Given the description of an element on the screen output the (x, y) to click on. 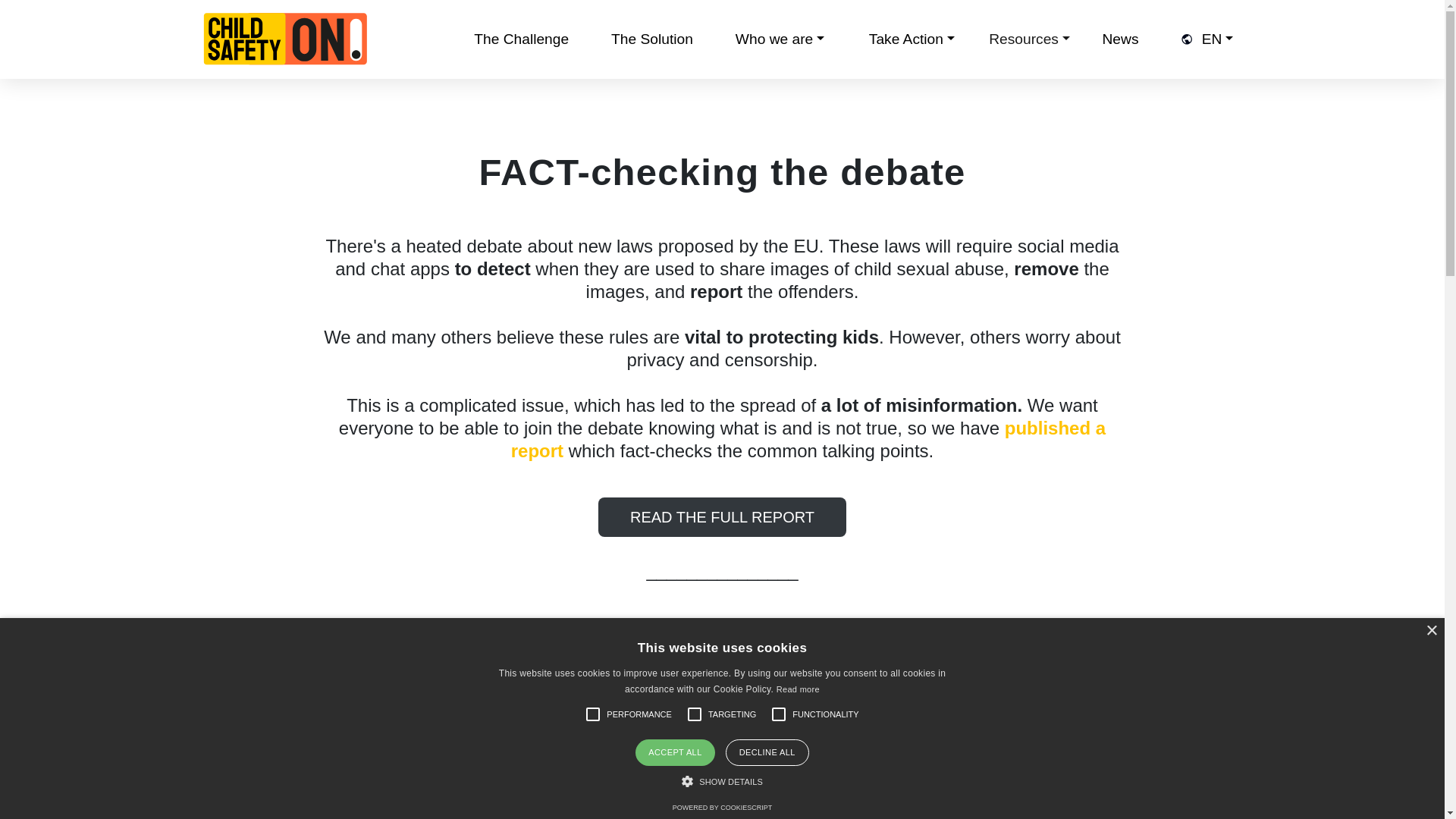
News (1120, 39)
The Solution (651, 39)
The Challenge (521, 39)
Who we are (779, 39)
READ THE FULL REPORT (721, 517)
EN (1217, 39)
published a report (808, 439)
The Challenge (521, 39)
Take Action (911, 39)
Resources (1029, 39)
Resources (1029, 39)
en (1217, 39)
The Solution (651, 39)
Take Action (911, 39)
Who we are (779, 39)
